Given the description of an element on the screen output the (x, y) to click on. 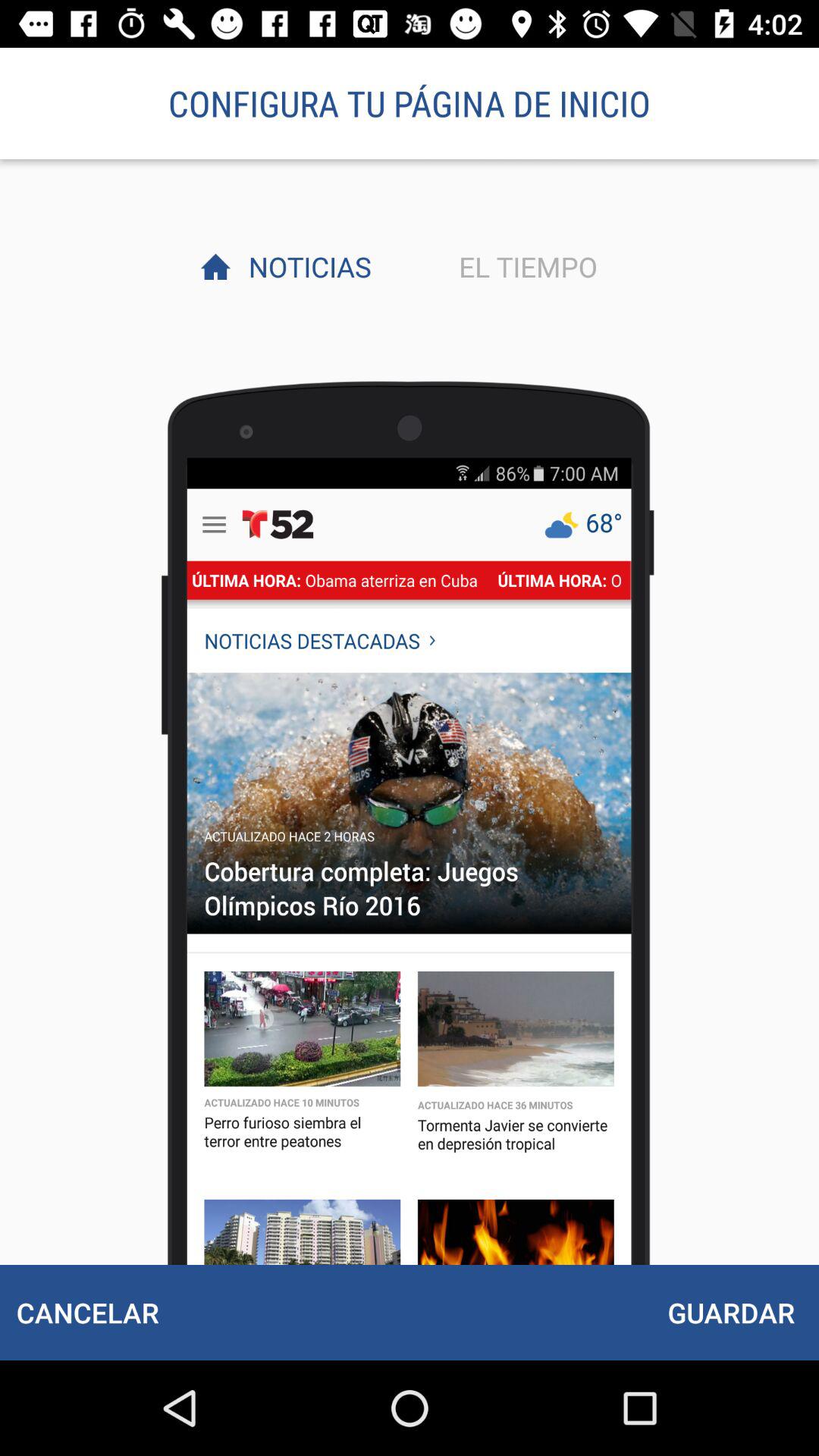
choose noticias item (305, 266)
